Given the description of an element on the screen output the (x, y) to click on. 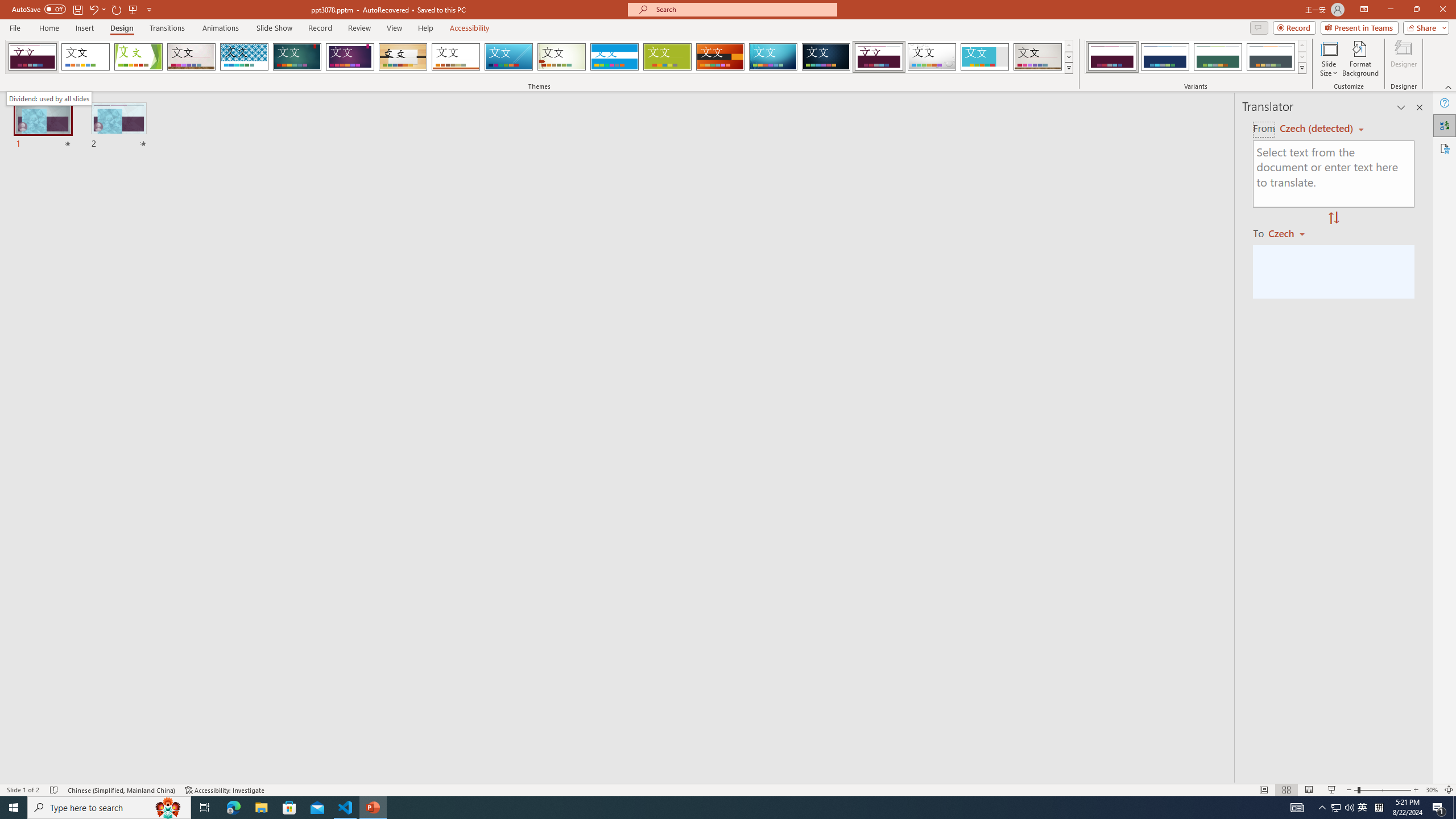
Themes (1068, 67)
Facet (138, 56)
Retrospect (455, 56)
AutomationID: ThemeVariantsGallery (1195, 56)
